Given the description of an element on the screen output the (x, y) to click on. 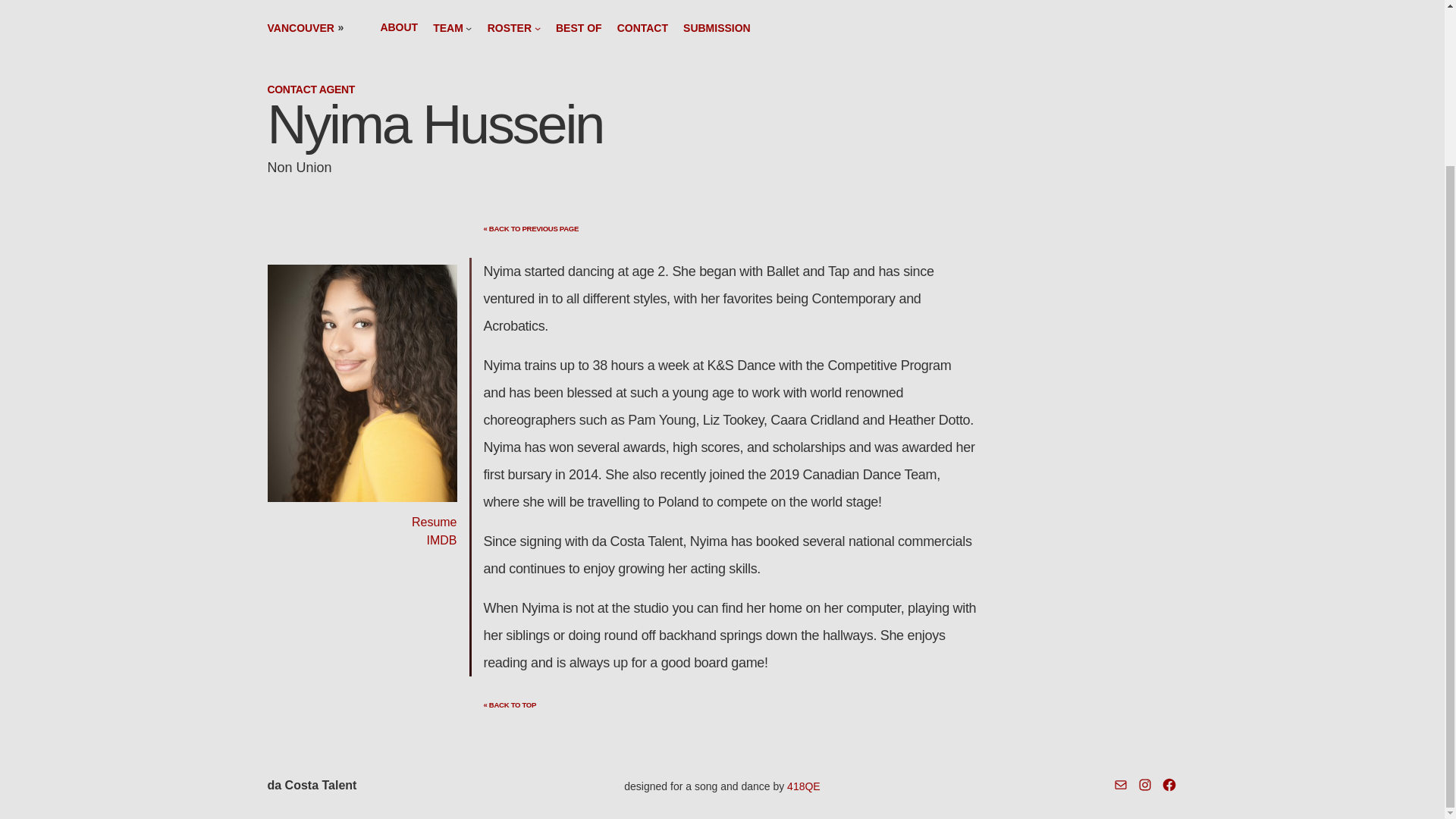
CONTACT (642, 27)
da Costa Talent (311, 784)
BEST OF (579, 27)
418QE (804, 786)
TEAM (447, 27)
CONTACT AGENT (310, 89)
IMDB (441, 540)
ROSTER (509, 27)
Instagram (1145, 784)
Facebook (1168, 784)
SUBMISSION (716, 27)
ABOUT (398, 27)
Resume (434, 521)
VANCOUVER (299, 28)
